Given the description of an element on the screen output the (x, y) to click on. 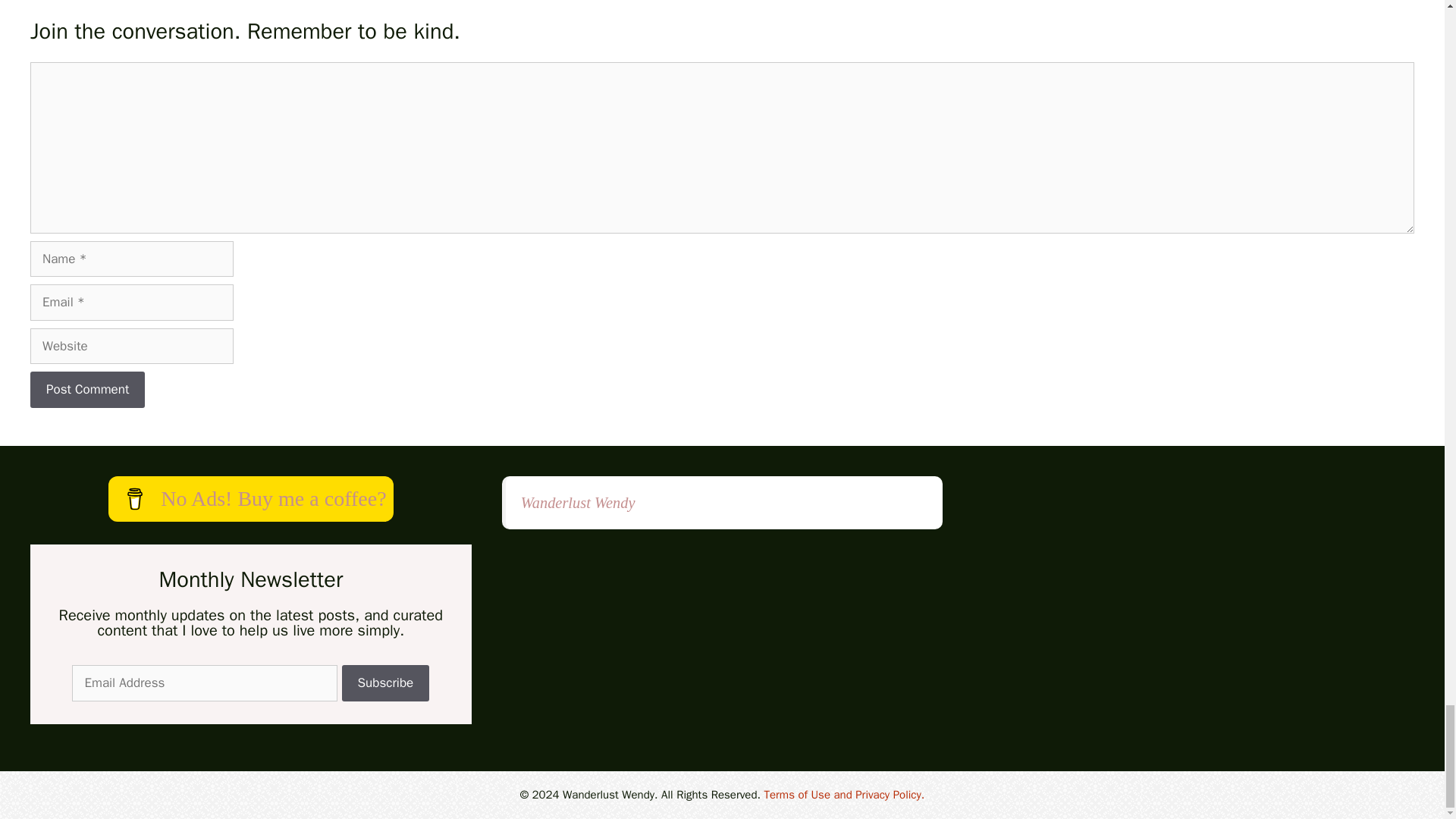
Post Comment (87, 389)
Subscribe (385, 683)
